Given the description of an element on the screen output the (x, y) to click on. 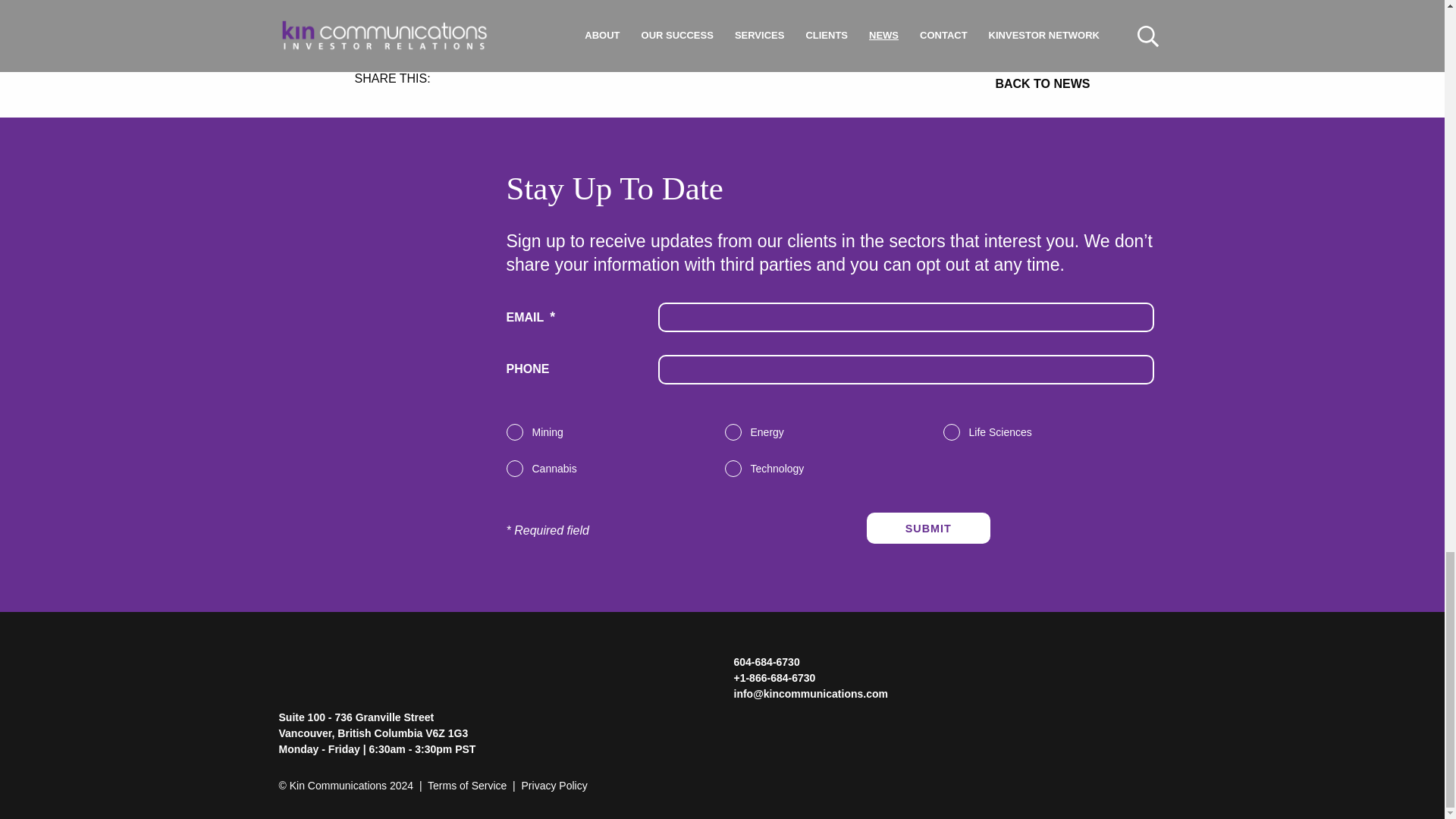
Submit (928, 527)
  BACK TO NEWS (905, 84)
